Given the description of an element on the screen output the (x, y) to click on. 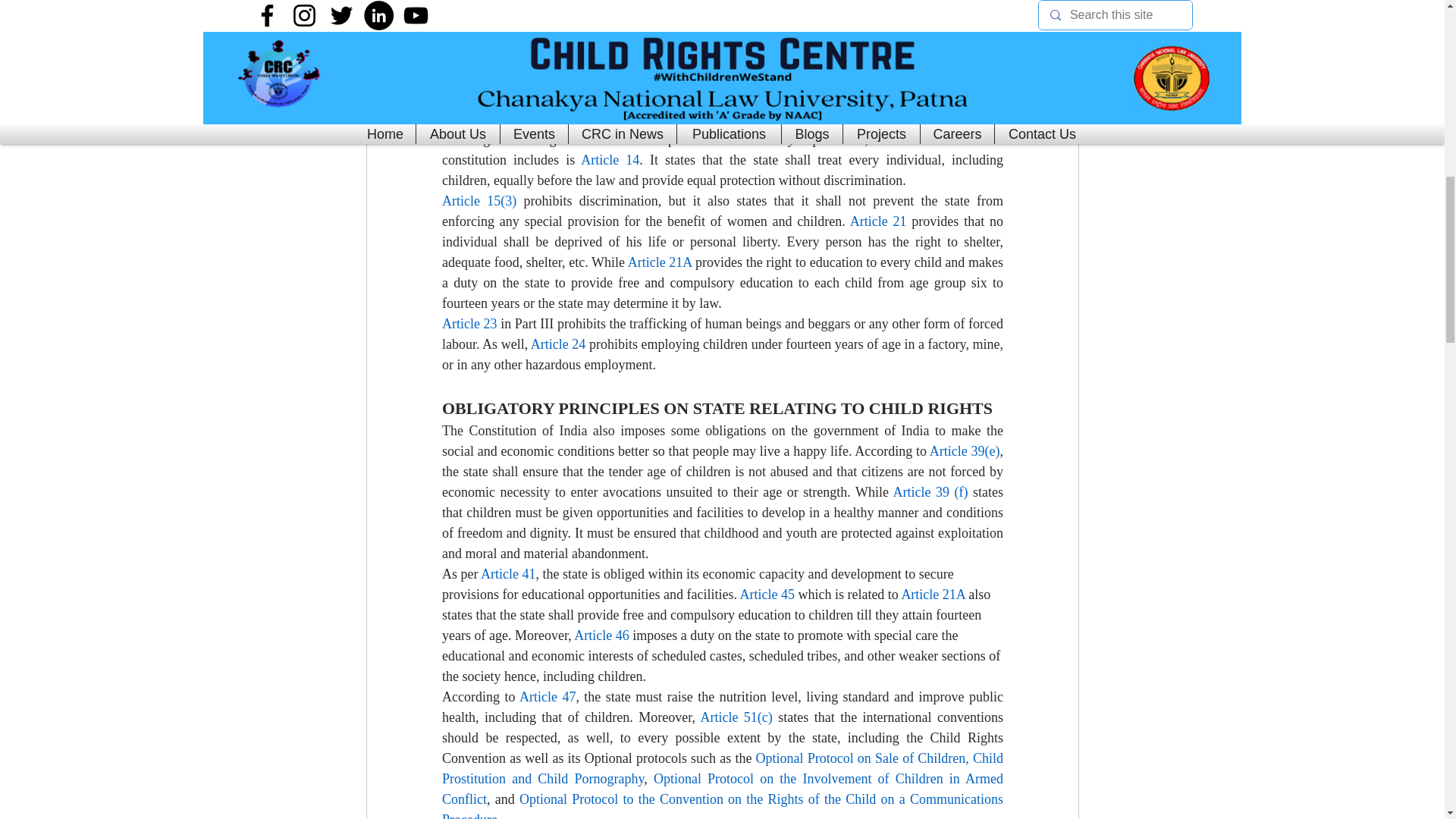
Article 21A (659, 262)
Article 47 (546, 696)
Article 24 (557, 344)
Article 41 (507, 573)
Article 23 (468, 323)
Article 14 (609, 159)
Article 21A (932, 594)
Article 21 (876, 221)
Article 46 (600, 635)
Article 45 (766, 594)
